Given the description of an element on the screen output the (x, y) to click on. 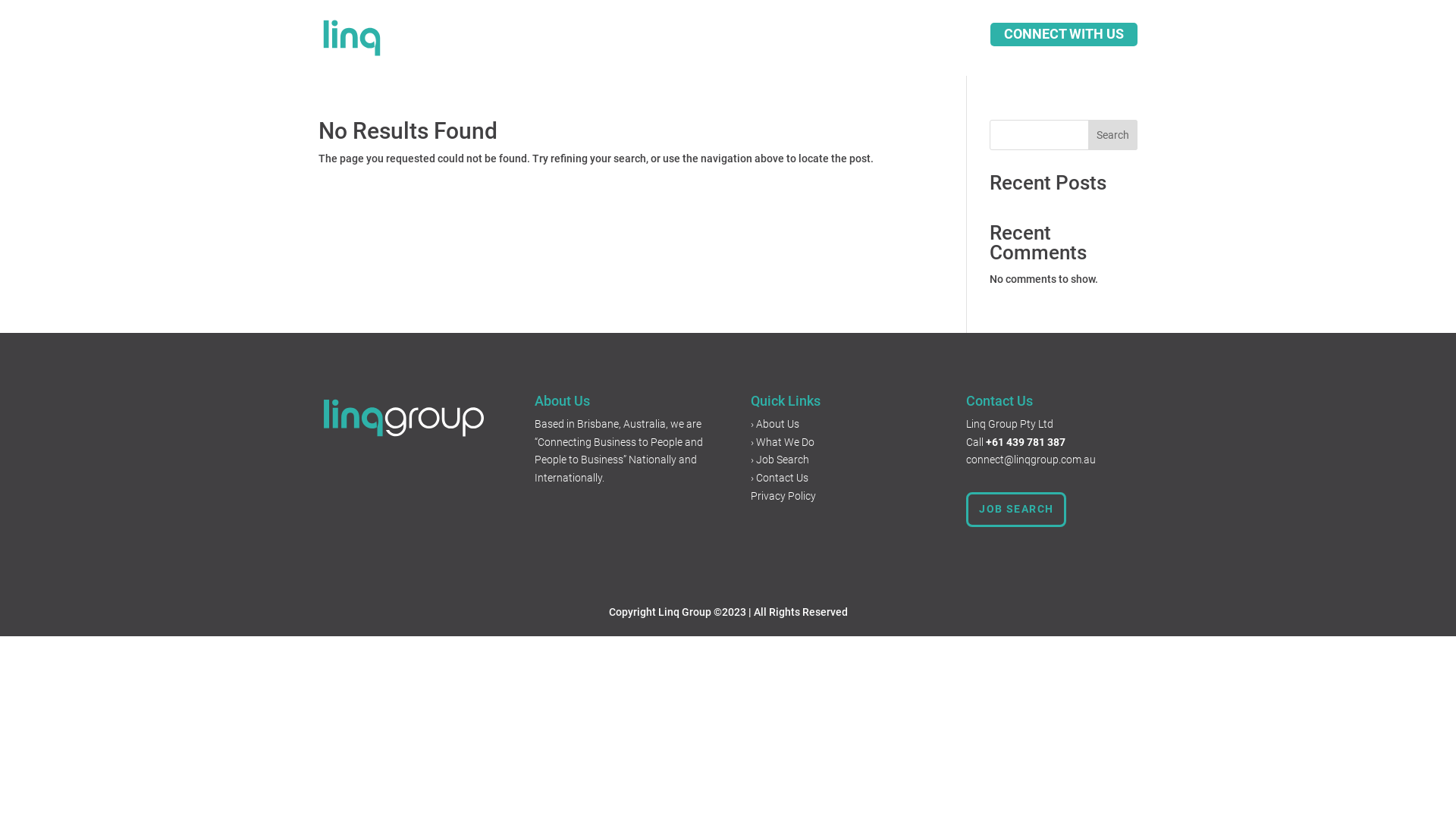
LG_Logo[REV] Element type: hover (400, 37)
connect@linqgroup.com.au Element type: text (1030, 459)
Job Search Element type: text (703, 40)
LG_Logo[REV] Element type: hover (403, 417)
About Us Element type: text (628, 40)
About Us Element type: text (561, 400)
What We Do Element type: text (785, 442)
Job Search Element type: text (782, 459)
Contact Us Element type: text (872, 40)
What We Do Element type: text (788, 40)
Home Element type: text (569, 40)
+61 439 781 387 Element type: text (1025, 442)
Search Element type: text (1112, 134)
CONNECT WITH US Element type: text (1063, 34)
Contact Us Element type: text (999, 400)
About Us Element type: text (777, 423)
JOB SEARCH Element type: text (1016, 509)
Contact Us Element type: text (782, 477)
